Given the description of an element on the screen output the (x, y) to click on. 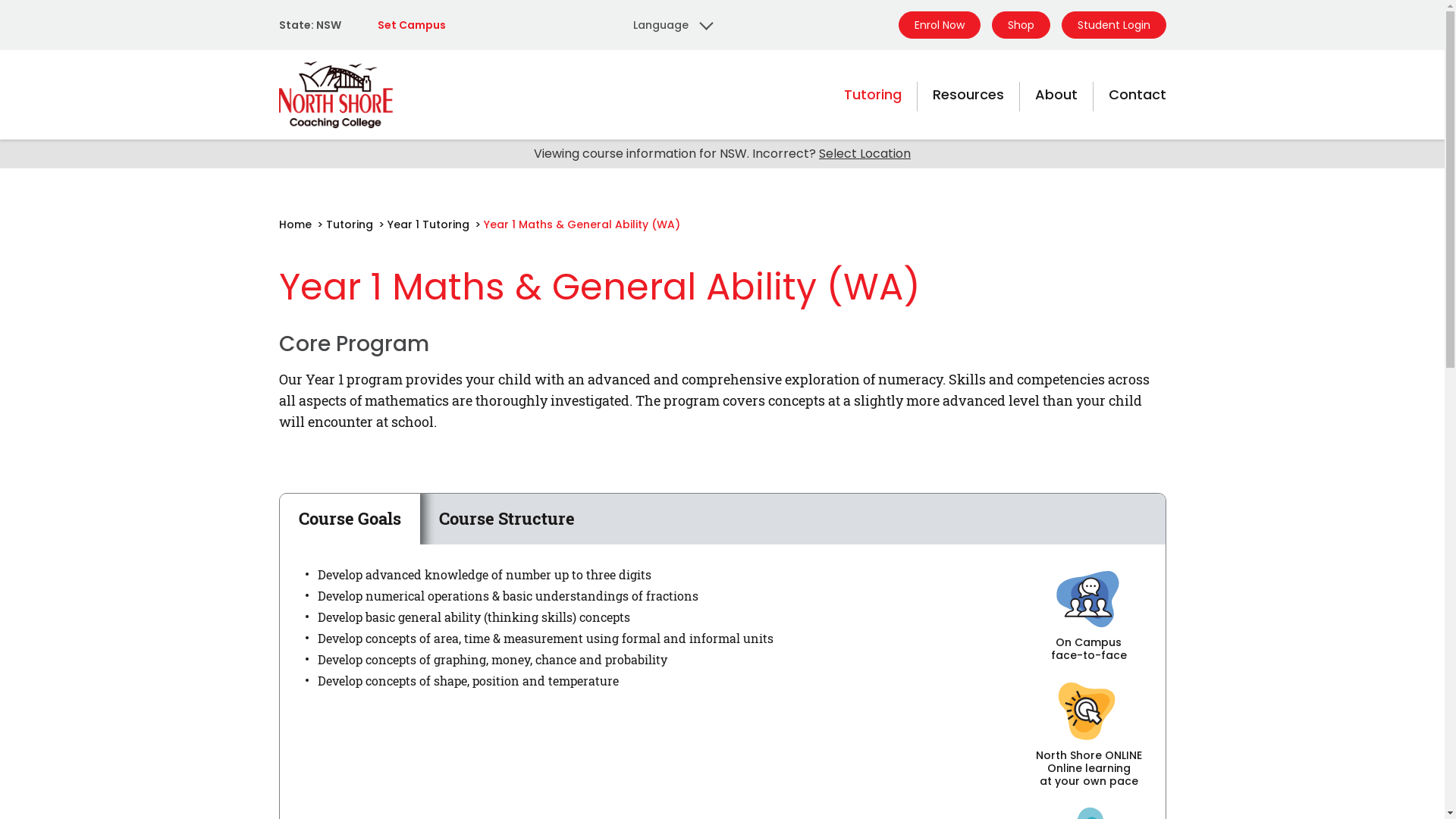
Contact Element type: text (1137, 94)
North Shore Coaching College Element type: hover (335, 94)
Course Goals Element type: text (349, 518)
Set Campus Element type: text (411, 24)
Shop Element type: text (1020, 24)
Resources Element type: text (968, 94)
Year 1 Tutoring Element type: text (427, 224)
Student Login Element type: text (1113, 24)
Enrol Now Element type: text (938, 24)
Course Structure Element type: text (506, 518)
About Element type: text (1055, 94)
Home Element type: text (295, 224)
Tutoring Element type: text (349, 224)
Select Location Element type: text (864, 153)
Tutoring Element type: text (871, 94)
